Given the description of an element on the screen output the (x, y) to click on. 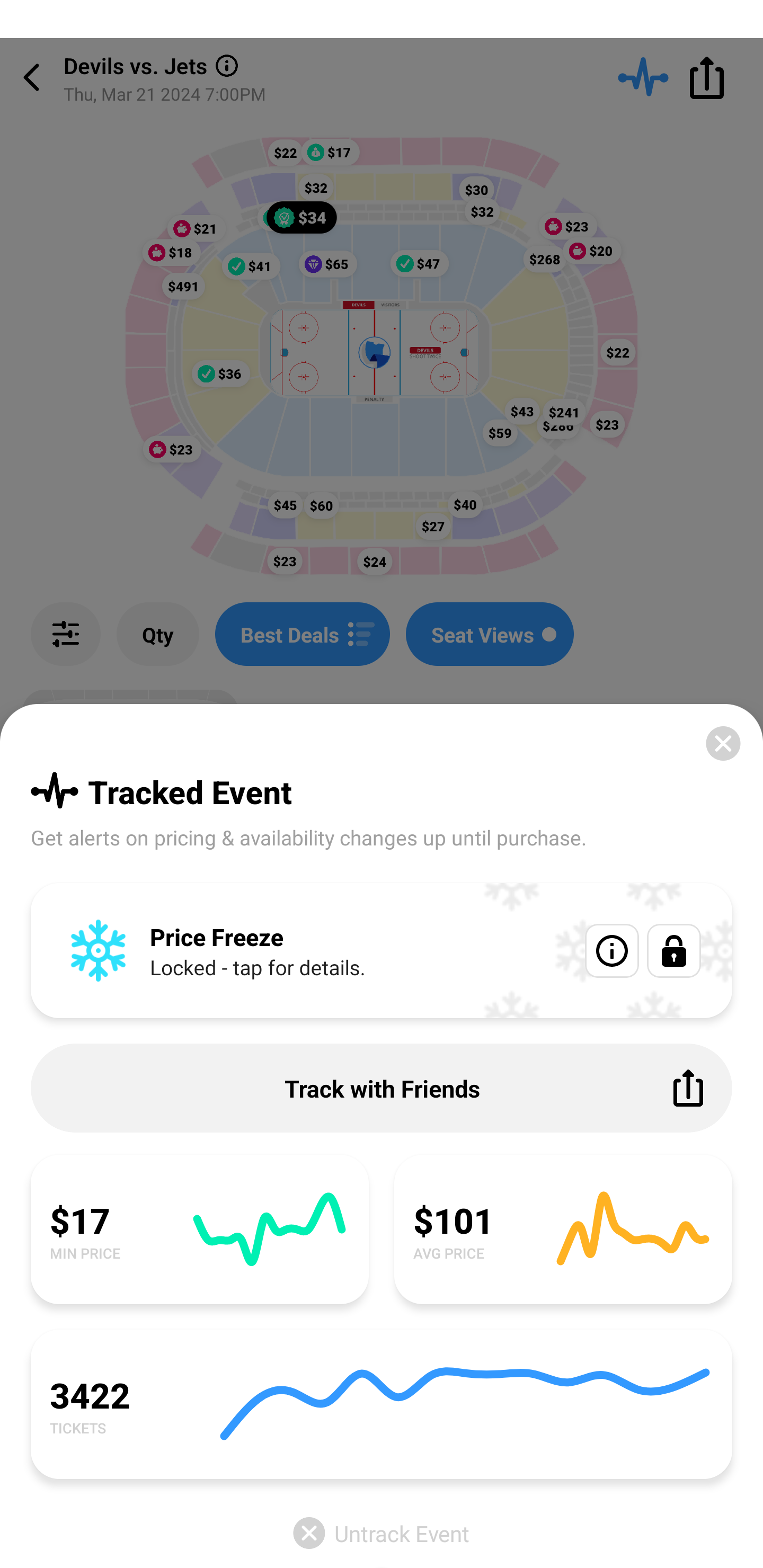
Track with Friends (381, 1088)
Untrack Event (381, 1533)
